Given the description of an element on the screen output the (x, y) to click on. 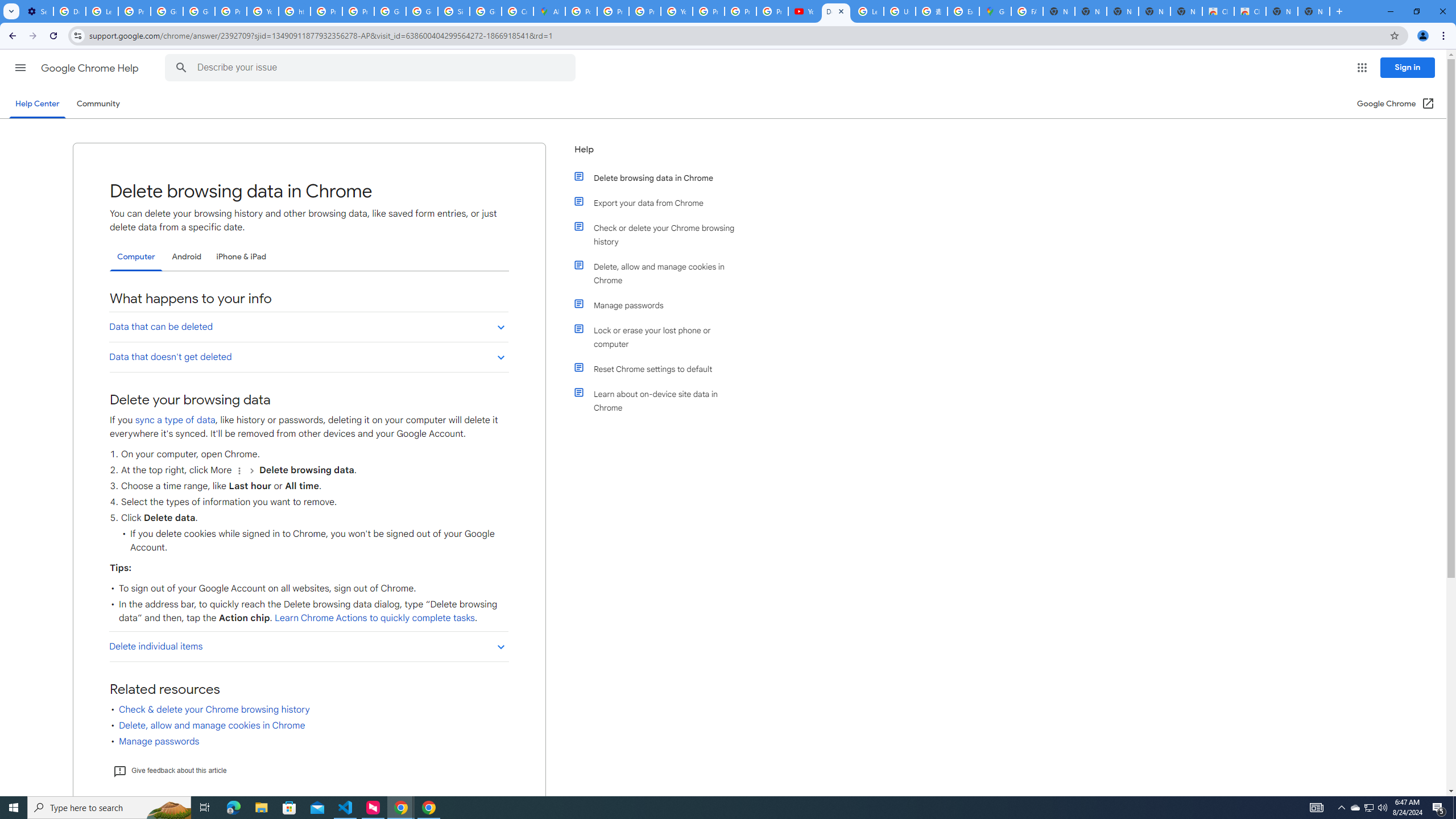
Computer (136, 257)
Manage passwords (661, 305)
Explore new street-level details - Google Maps Help (963, 11)
Lock or erase your lost phone or computer (661, 336)
Create your Google Account (517, 11)
Learn about on-device site data in Chrome (661, 400)
Delete individual items (308, 646)
Policy Accountability and Transparency - Transparency Center (581, 11)
